Given the description of an element on the screen output the (x, y) to click on. 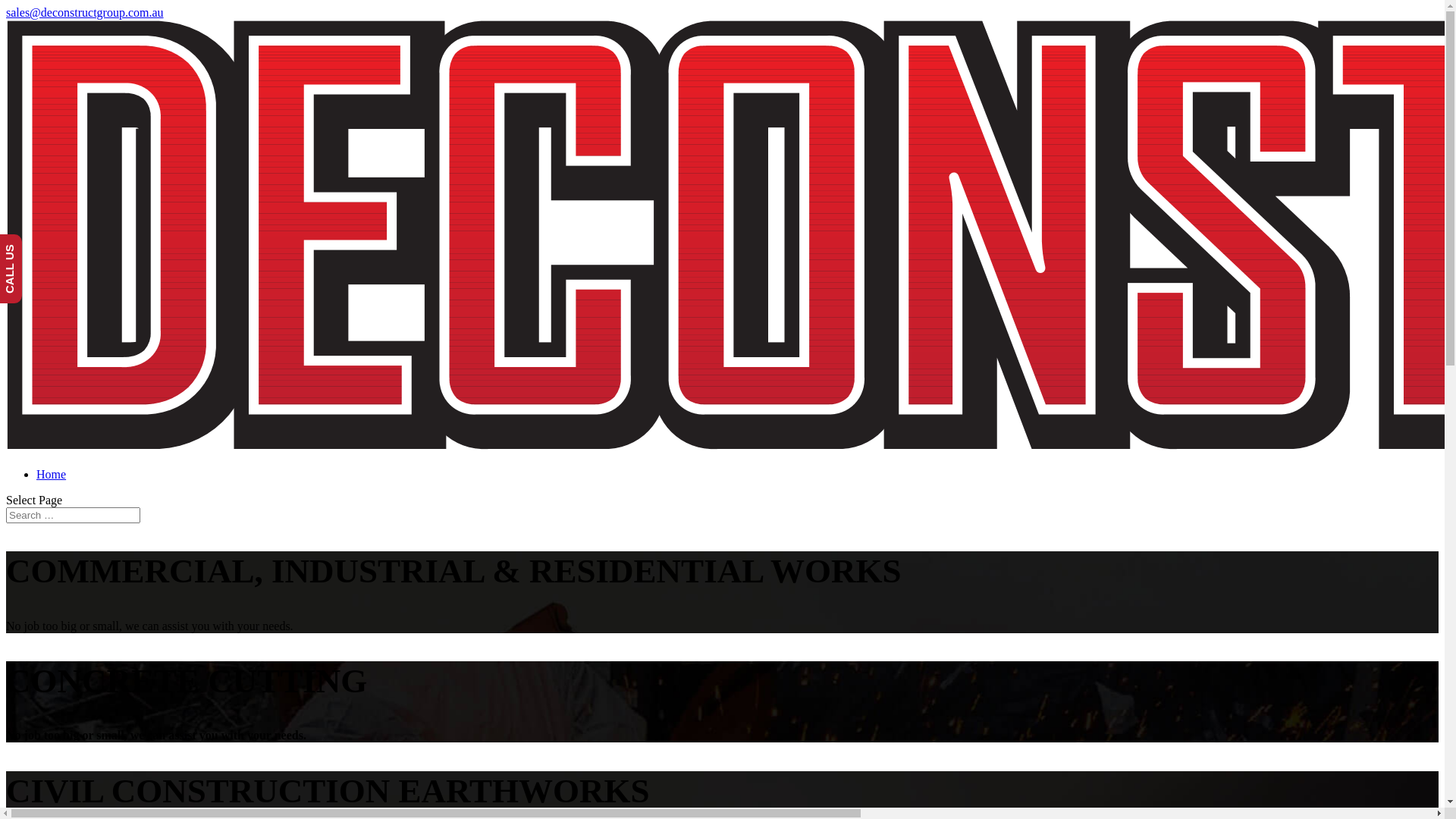
Home Element type: text (50, 473)
Search for: Element type: hover (73, 515)
sales@deconstructgroup.com.au Element type: text (84, 12)
